Given the description of an element on the screen output the (x, y) to click on. 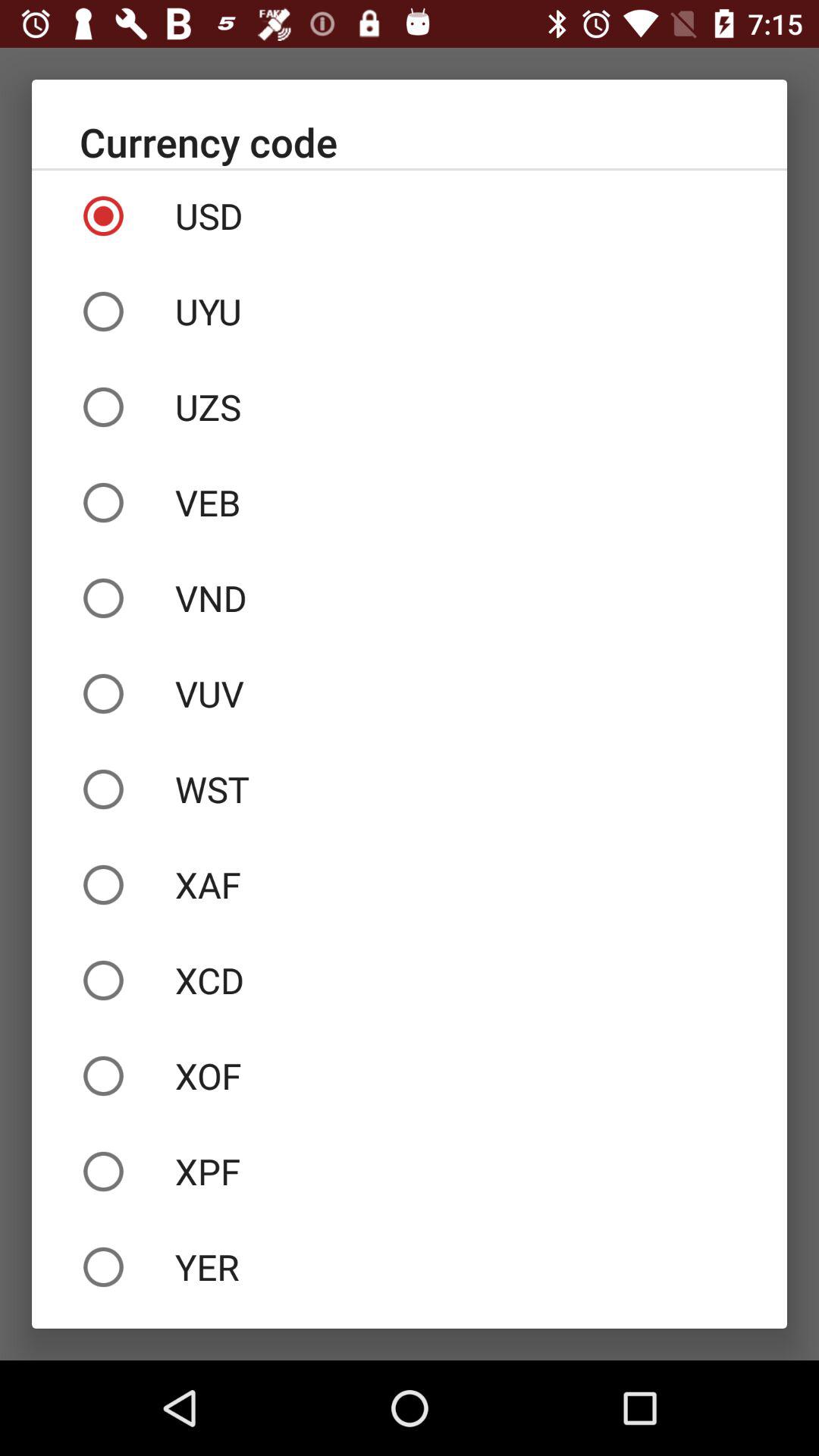
open the icon below the xpf item (409, 1266)
